Given the description of an element on the screen output the (x, y) to click on. 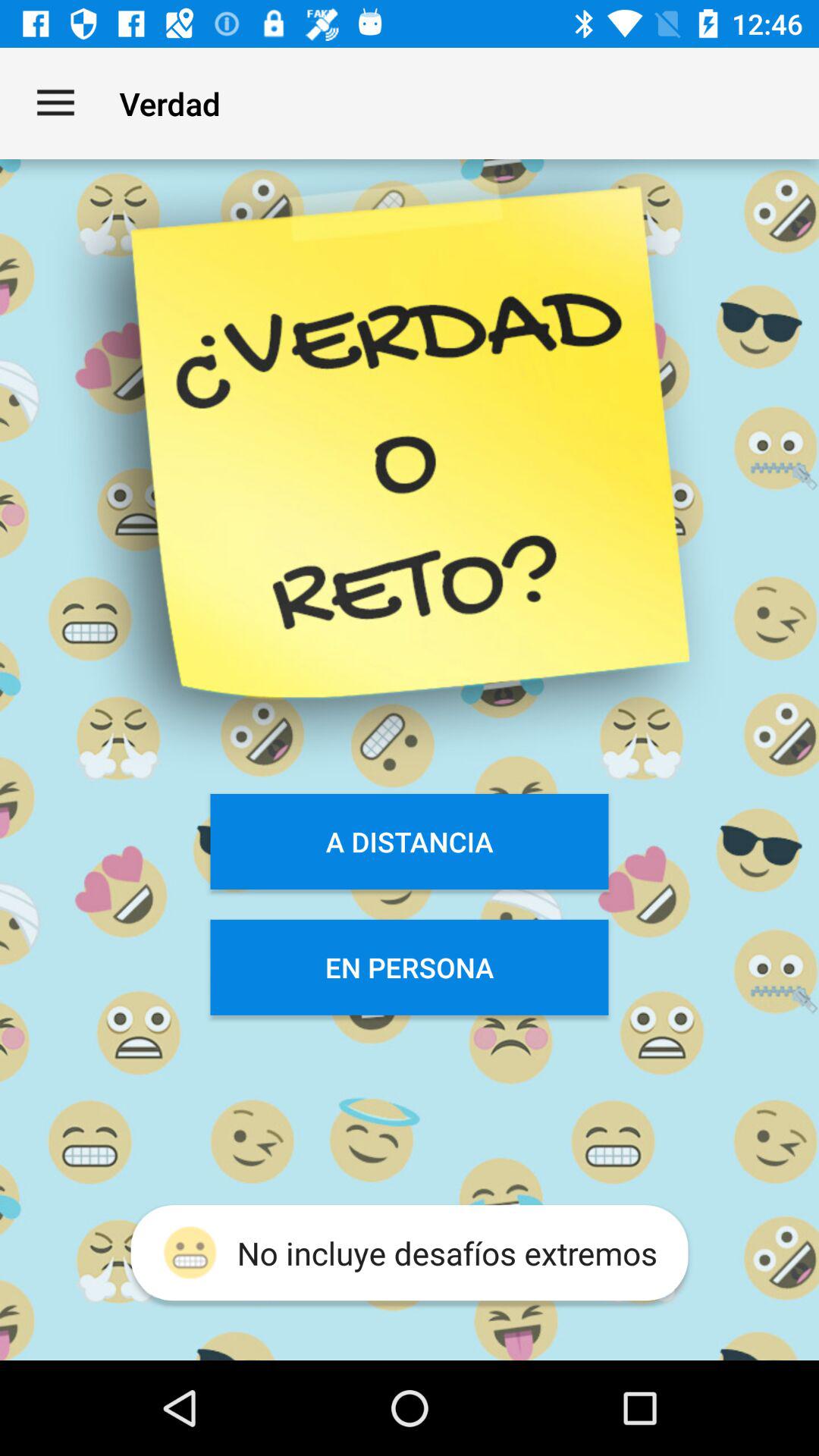
launch the item below verdad (409, 841)
